Given the description of an element on the screen output the (x, y) to click on. 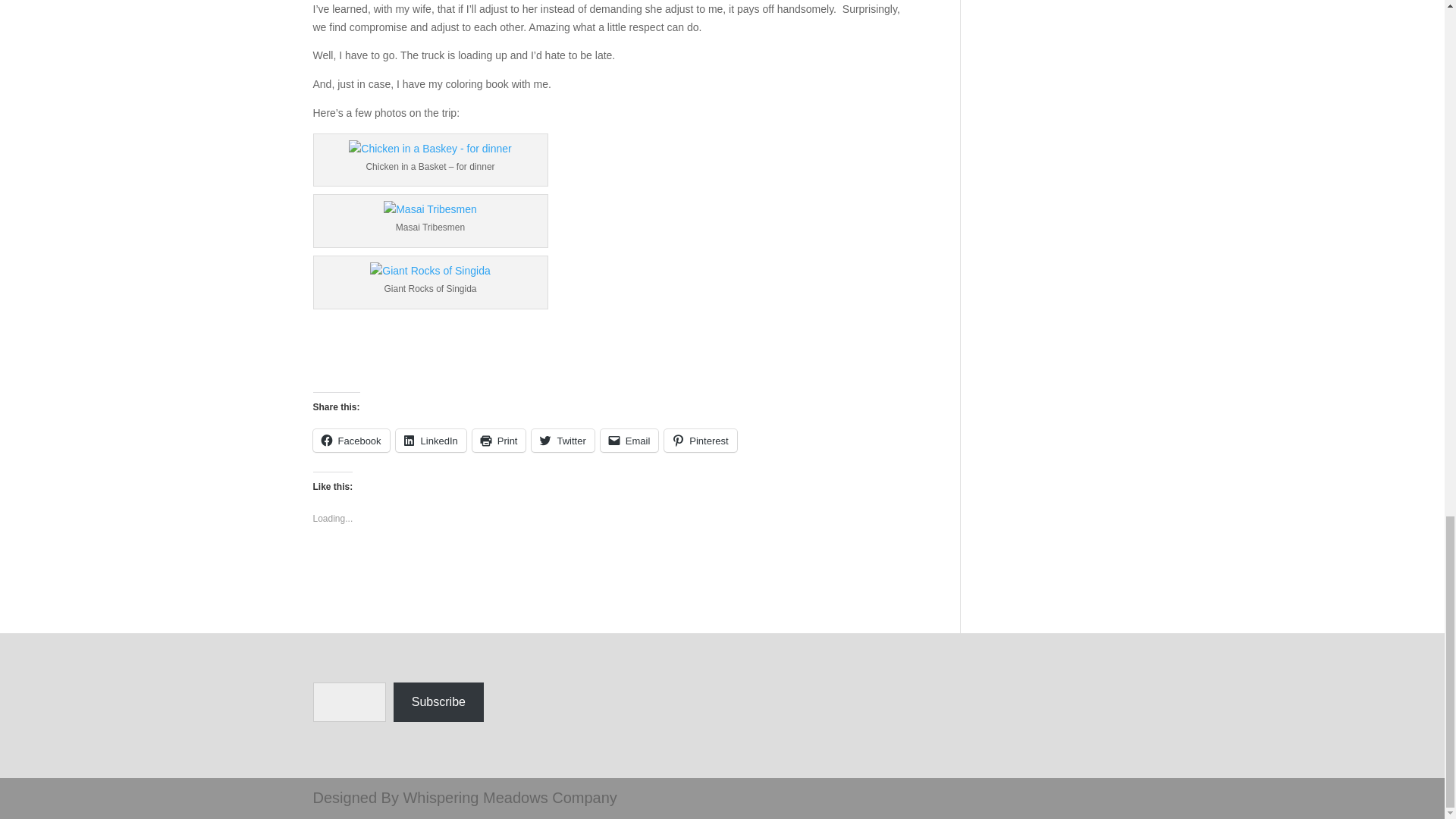
Click to share on LinkedIn (430, 440)
Click to share on Pinterest (699, 440)
Email (629, 440)
Print (498, 440)
Click to print (498, 440)
Click to share on Facebook (350, 440)
Twitter (562, 440)
Pinterest (699, 440)
Subscribe (438, 702)
Click to email a link to a friend (629, 440)
